Given the description of an element on the screen output the (x, y) to click on. 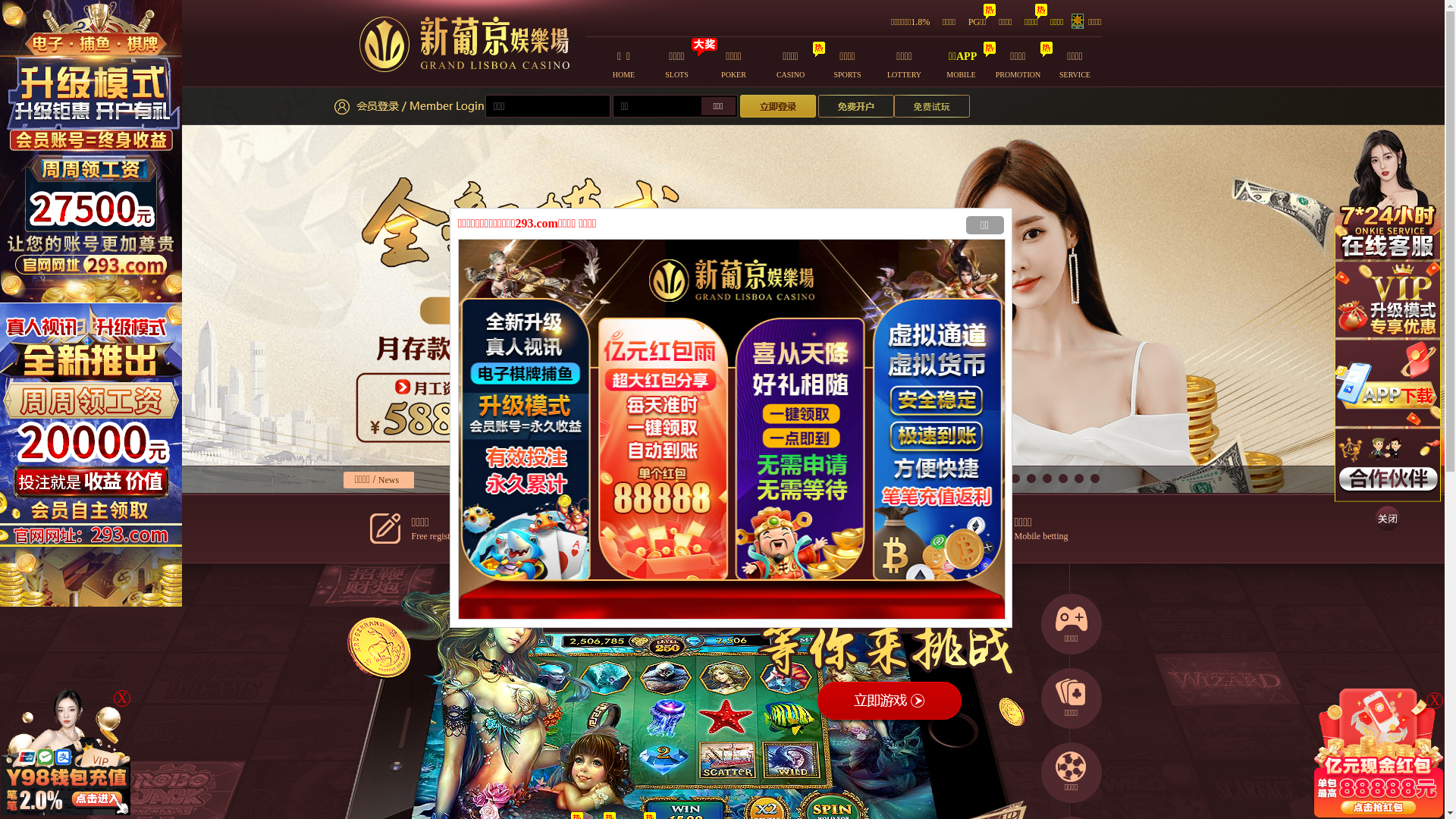
X Element type: text (121, 698)
X Element type: text (1434, 700)
